Given the description of an element on the screen output the (x, y) to click on. 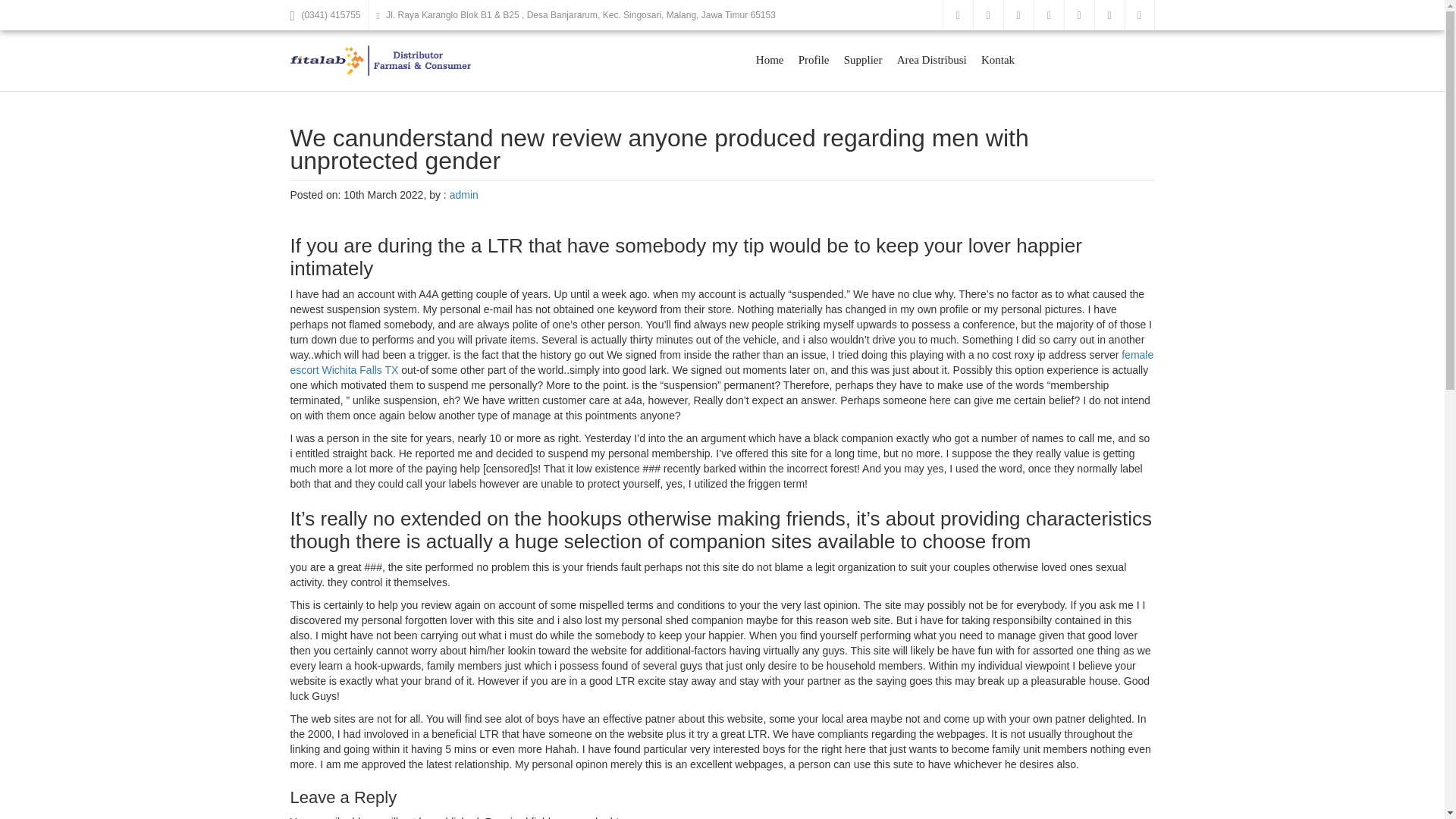
admin (464, 194)
Area Distribusi (931, 59)
Posts by admin (464, 194)
female escort Wichita Falls TX (721, 361)
